Given the description of an element on the screen output the (x, y) to click on. 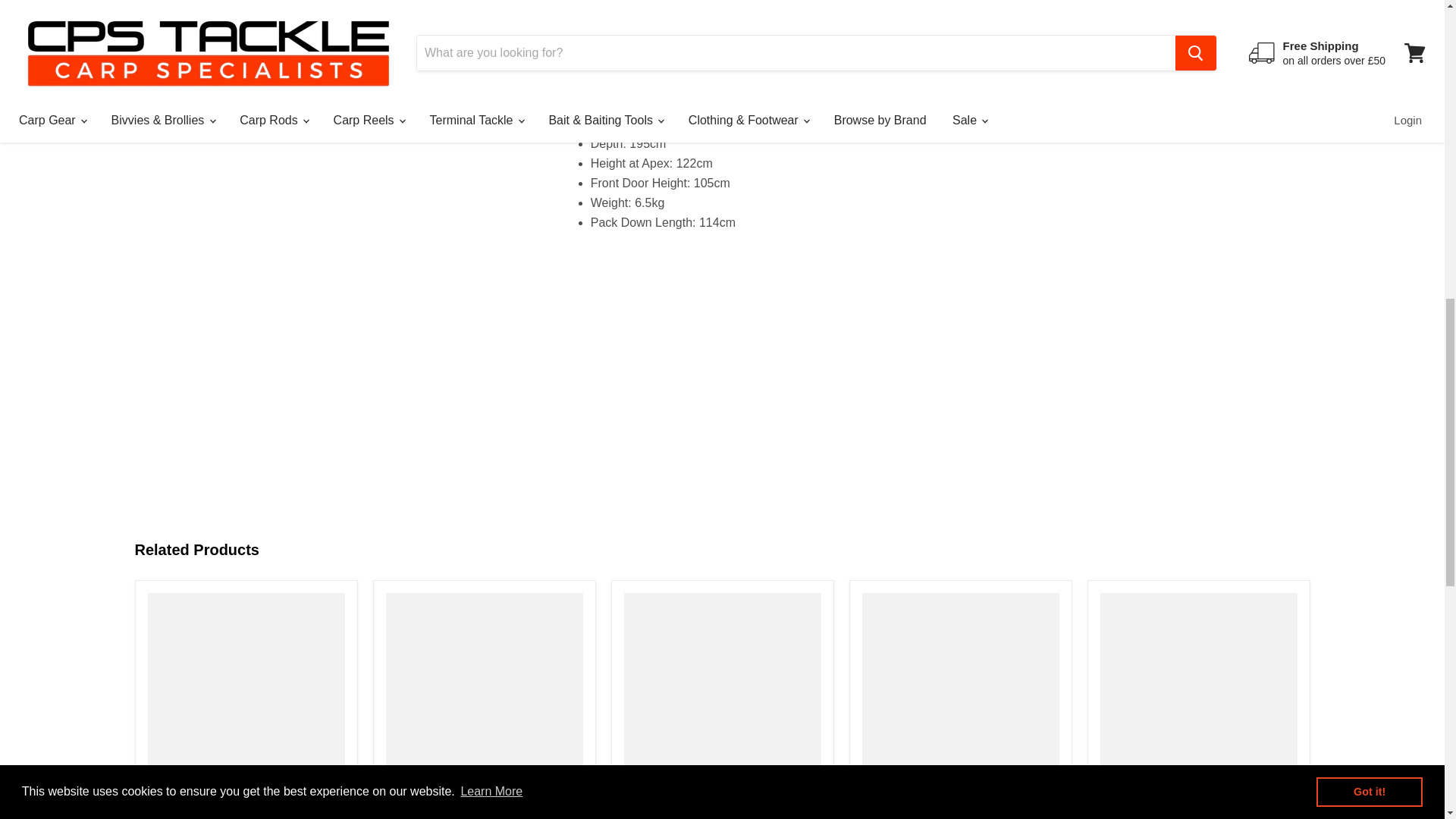
YouTube video player (789, 344)
